Given the description of an element on the screen output the (x, y) to click on. 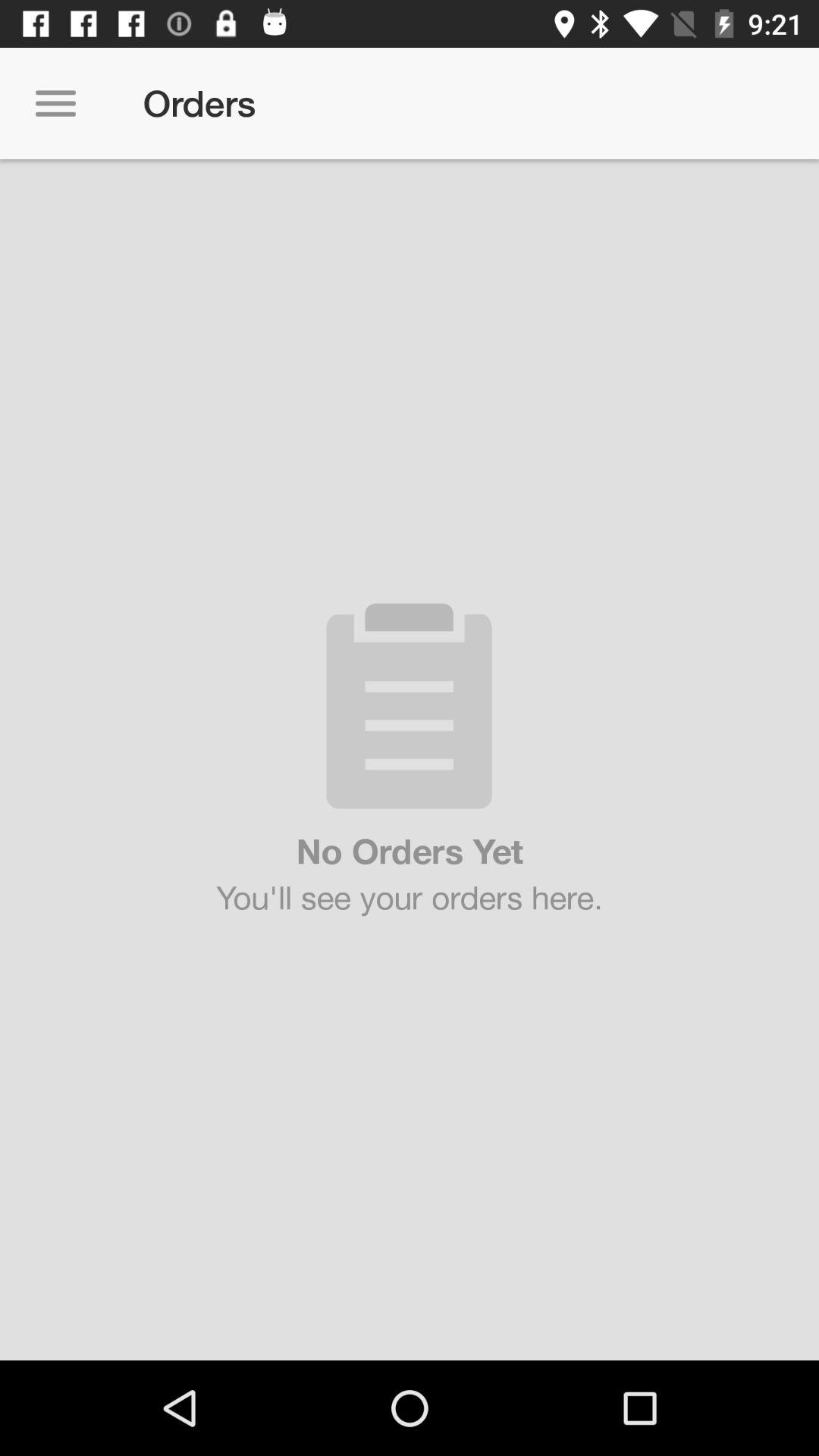
launch icon next to the orders item (55, 103)
